Given the description of an element on the screen output the (x, y) to click on. 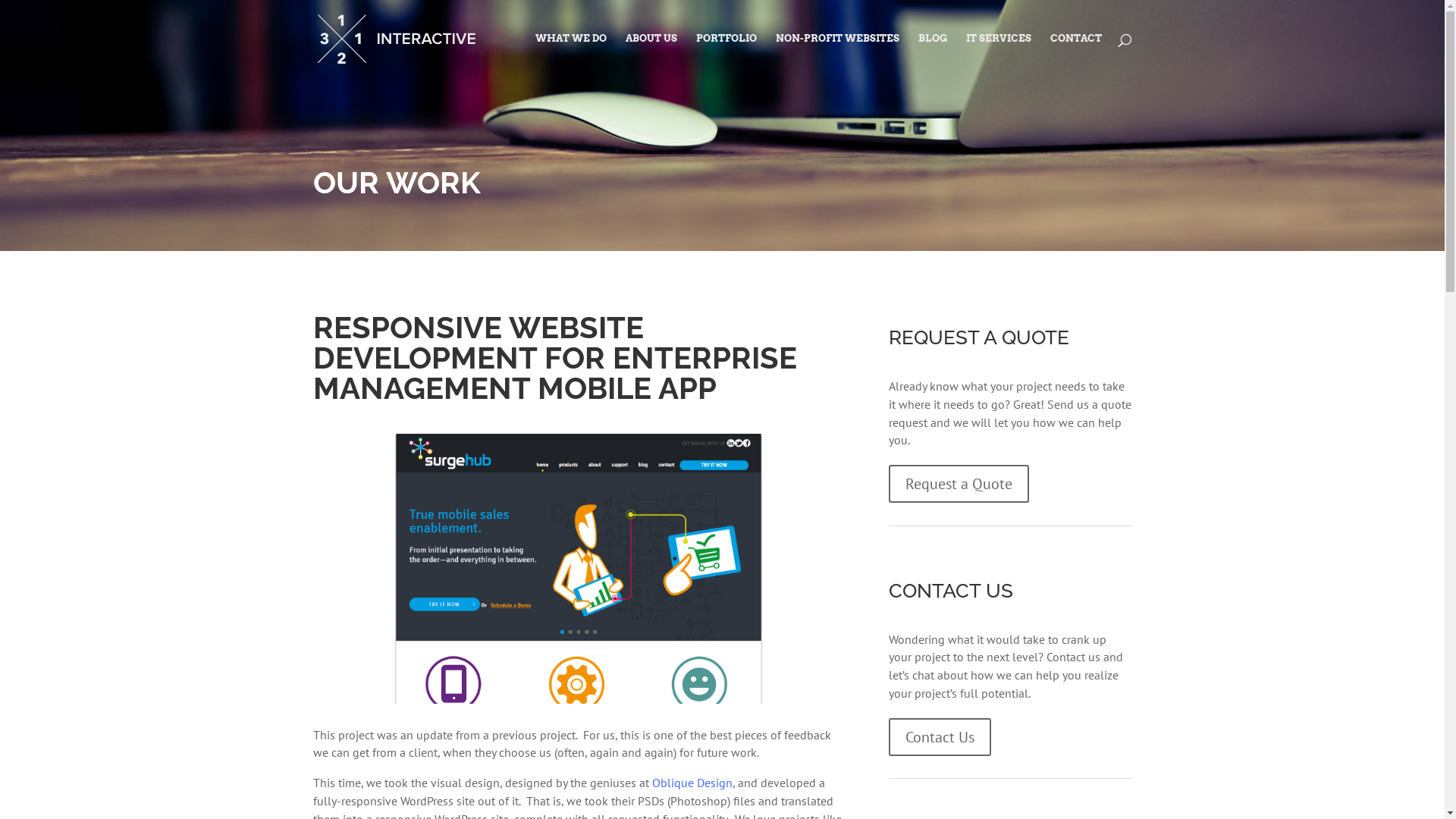
PORTFOLIO Element type: text (726, 55)
Oblique Design Element type: text (692, 782)
WHAT WE DO Element type: text (570, 55)
Request a Quote Element type: text (958, 483)
NON-PROFIT WEBSITES Element type: text (836, 55)
Contact Us Element type: text (939, 737)
ABOUT US Element type: text (650, 55)
CONTACT Element type: text (1075, 55)
BLOG Element type: text (931, 55)
IT SERVICES Element type: text (998, 55)
